Given the description of an element on the screen output the (x, y) to click on. 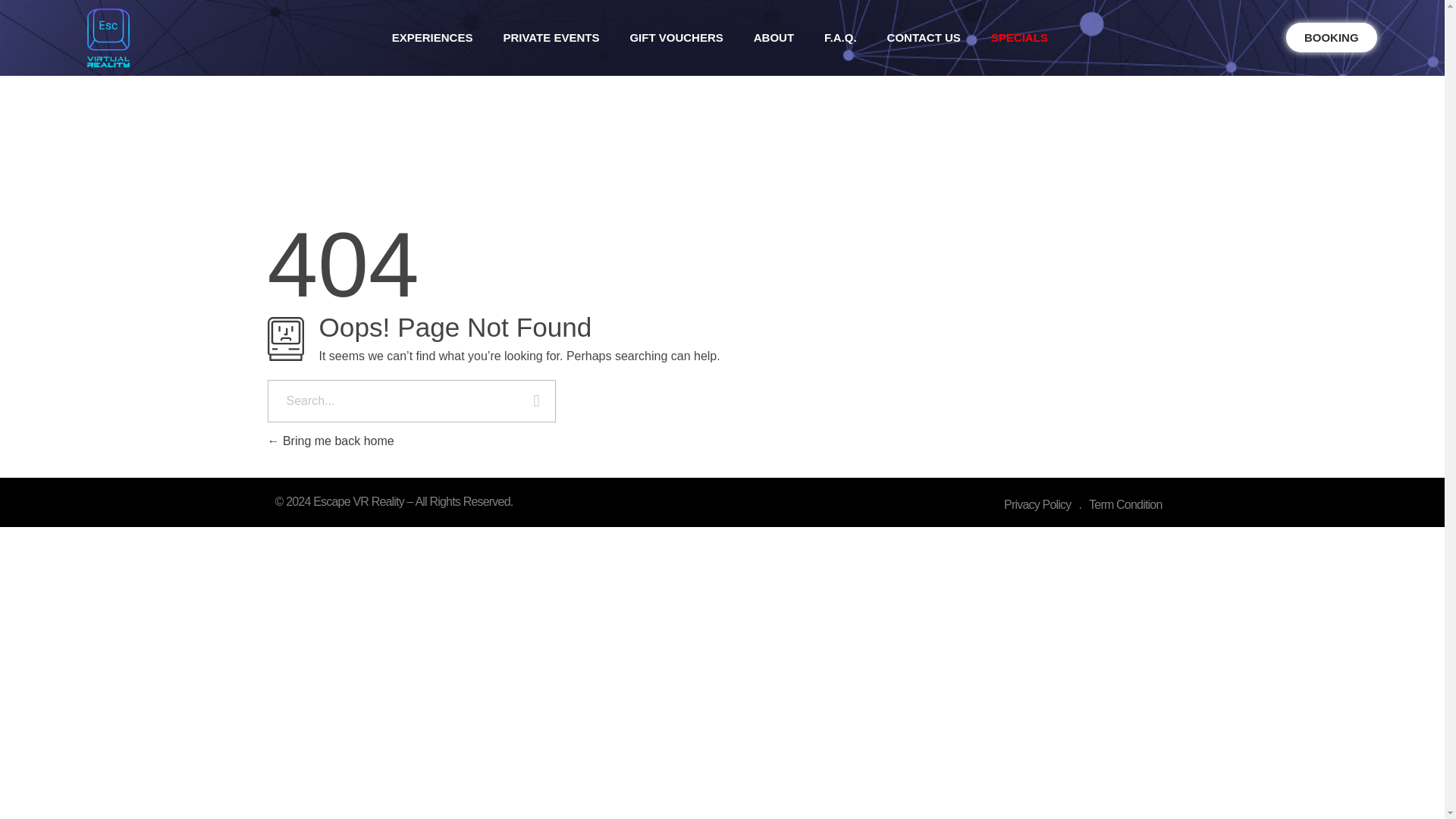
F.A.Q. (840, 37)
ABOUT (773, 37)
GIFT VOUCHERS (676, 37)
PRIVATE EVENTS (550, 37)
EXPERIENCES (432, 37)
SPECIALS (1018, 37)
BOOKING (1331, 37)
CONTACT US (923, 37)
